Given the description of an element on the screen output the (x, y) to click on. 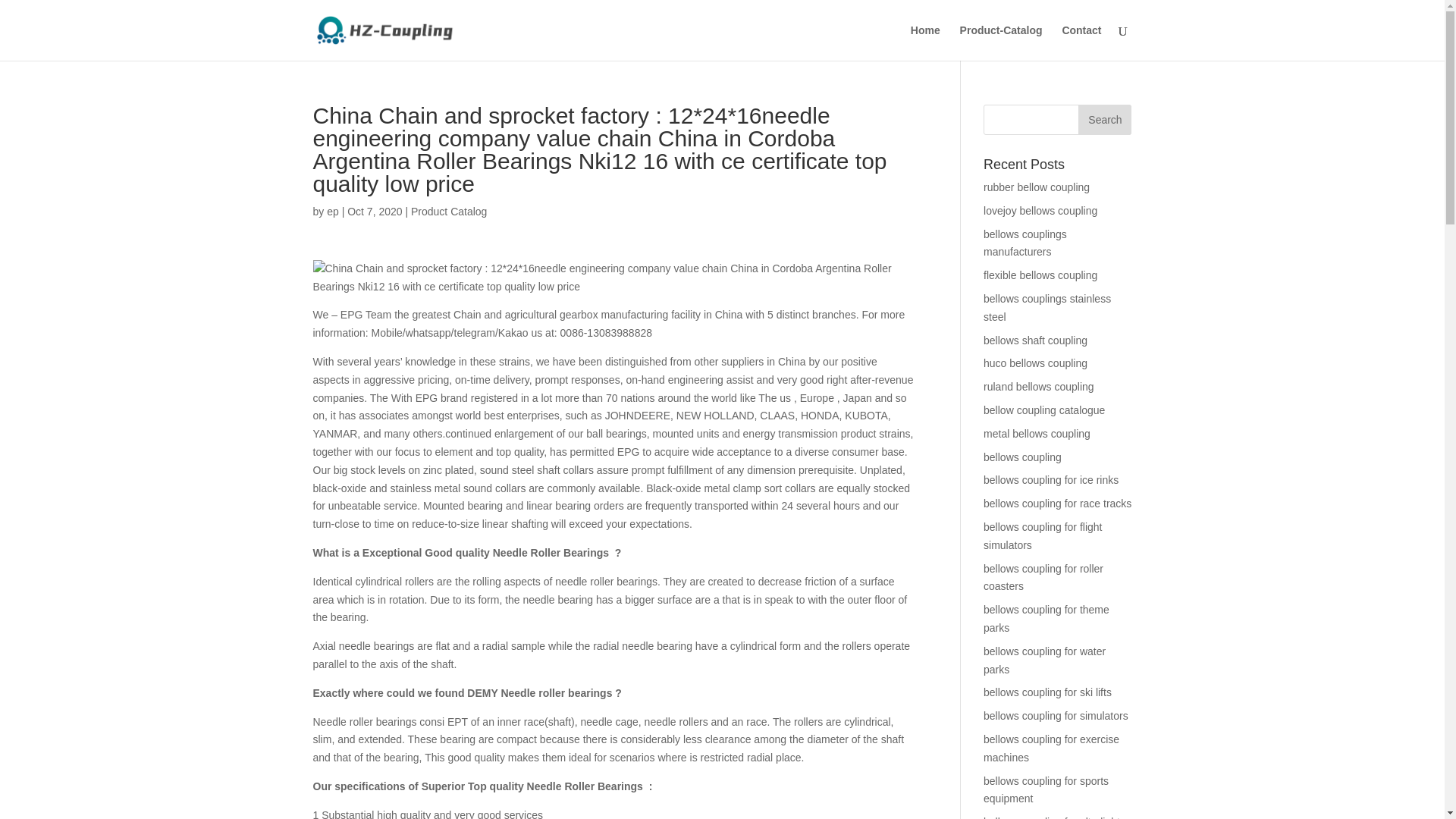
Search (1104, 119)
Search (1104, 119)
metal bellows coupling (1037, 433)
bellows coupling for flight simulators (1043, 535)
lovejoy bellows coupling (1040, 210)
flexible bellows coupling (1040, 275)
bellow coupling catalogue (1044, 410)
bellows coupling for ultralight aircraft (1051, 817)
Product Catalog (448, 211)
bellows coupling for ski lifts (1048, 692)
